Given the description of an element on the screen output the (x, y) to click on. 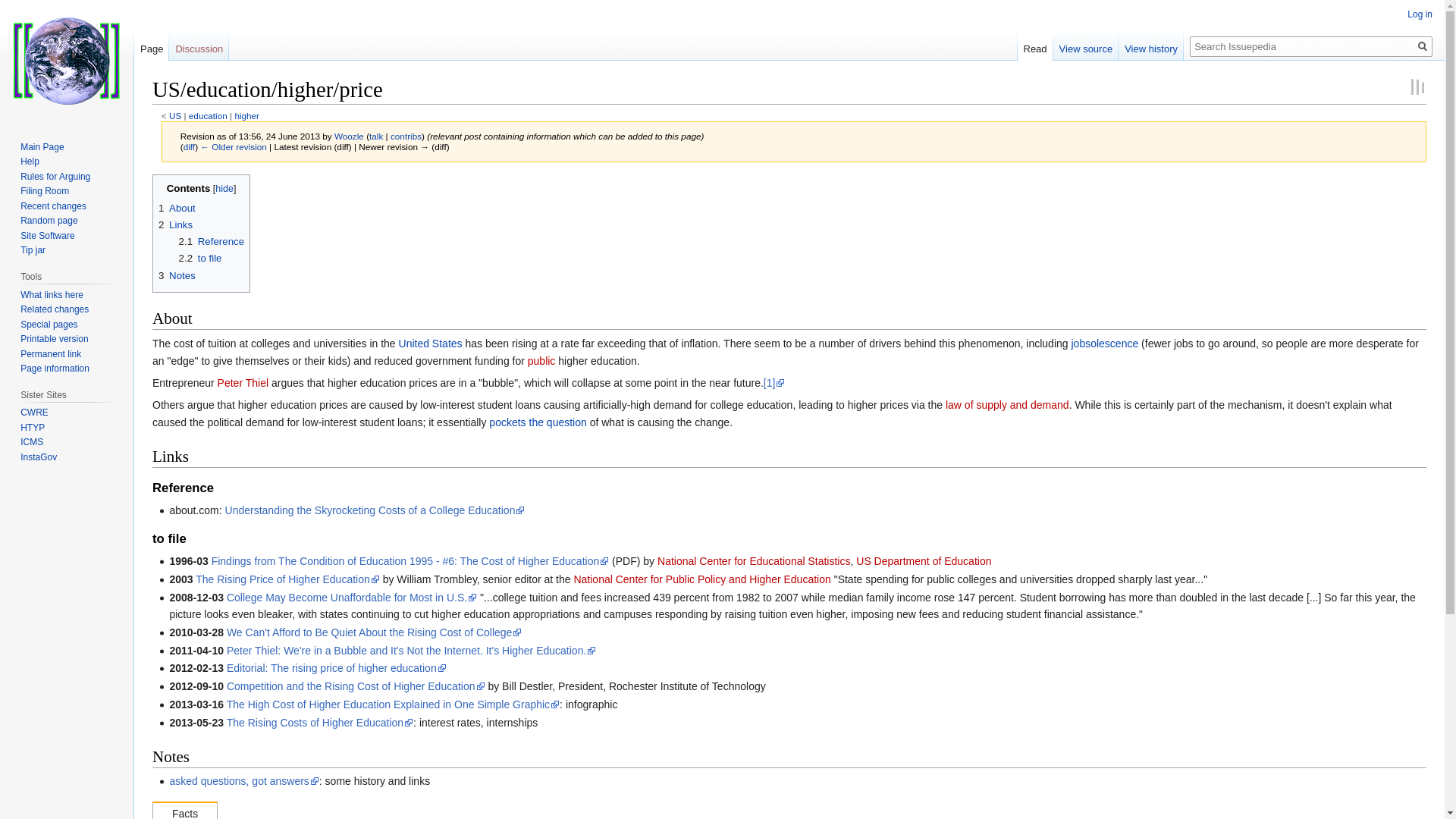
talk (375, 135)
law of supply and demand (1006, 404)
National Center for Public Policy and Higher Education (701, 579)
Competition and the Rising Cost of Higher Education (355, 686)
Peter Thiel (241, 382)
3 Notes (176, 275)
2 Links (175, 224)
We Can't Afford to Be Quiet About the Rising Cost of College (374, 632)
2.2 to file (200, 257)
education (208, 115)
Jobsolescence (1104, 343)
diff (189, 146)
User talk:Woozle (375, 135)
asked questions, got answers (243, 780)
